Given the description of an element on the screen output the (x, y) to click on. 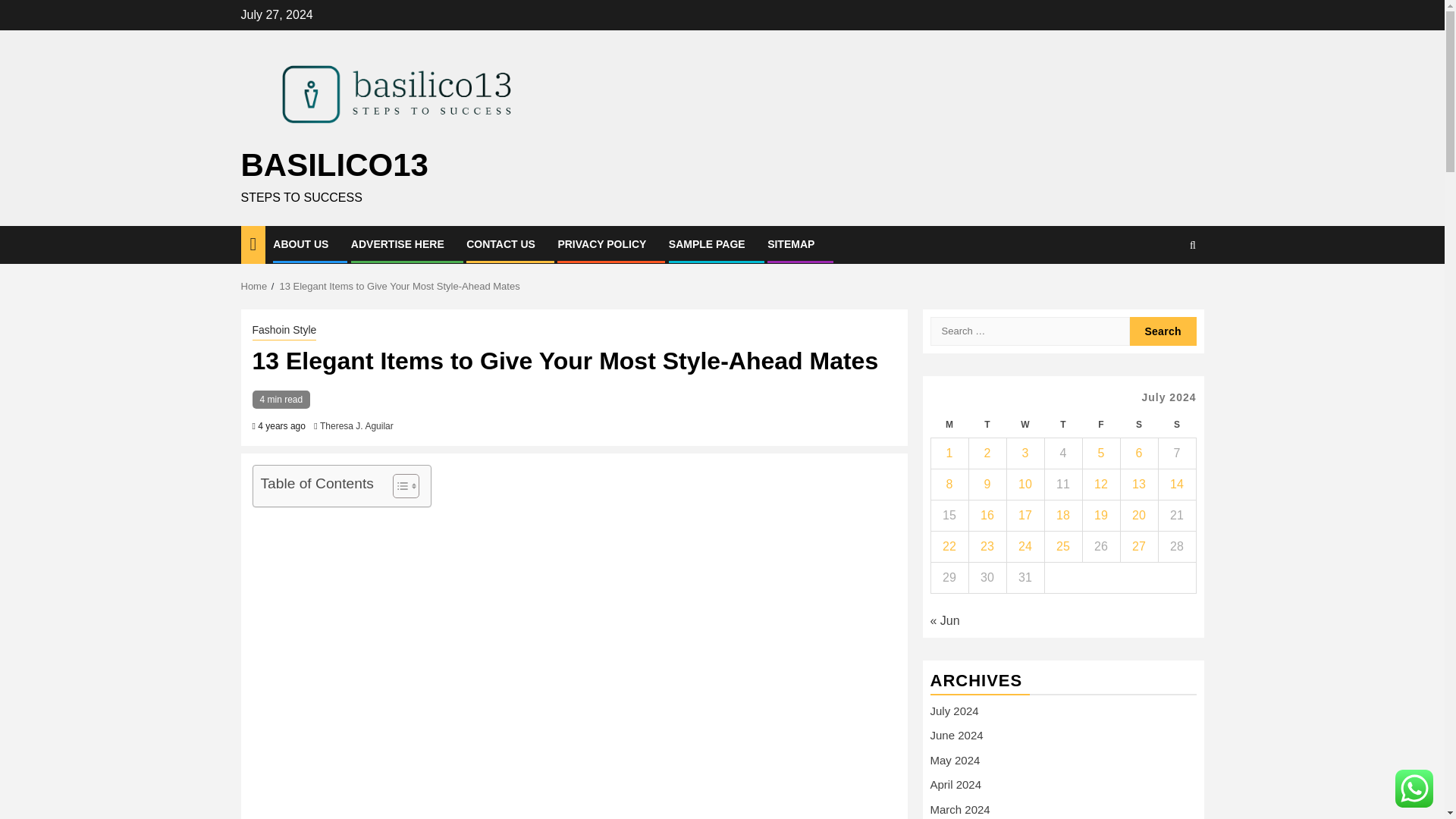
CONTACT US (500, 244)
Home (254, 285)
PRIVACY POLICY (601, 244)
SAMPLE PAGE (706, 244)
ABOUT US (301, 244)
Search (1162, 330)
13 Elegant Items to Give Your Most Style-Ahead Mates (399, 285)
Fashoin Style (283, 331)
BASILICO13 (334, 164)
ADVERTISE HERE (397, 244)
Search (1163, 290)
Search (1162, 330)
Theresa J. Aguilar (356, 425)
SITEMAP (790, 244)
